Given the description of an element on the screen output the (x, y) to click on. 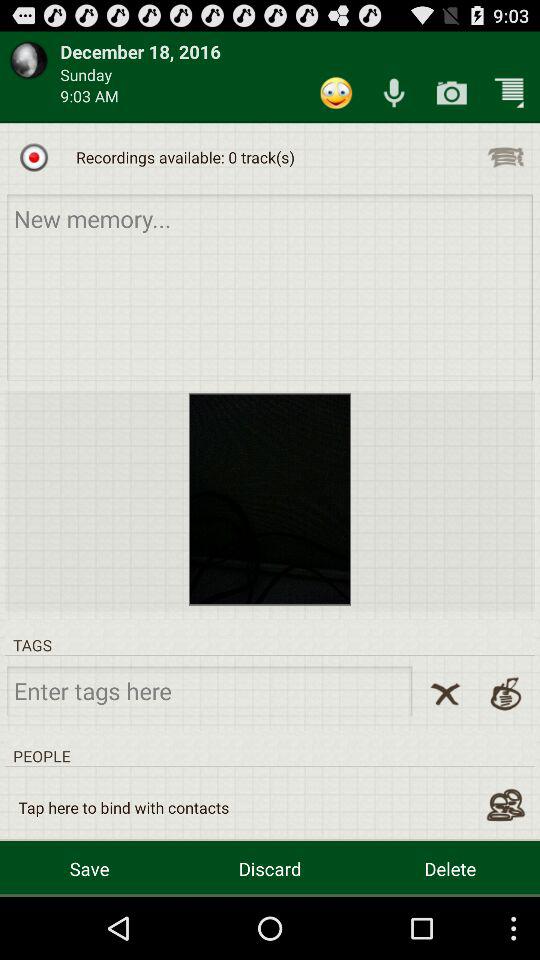
start recording (34, 157)
